Given the description of an element on the screen output the (x, y) to click on. 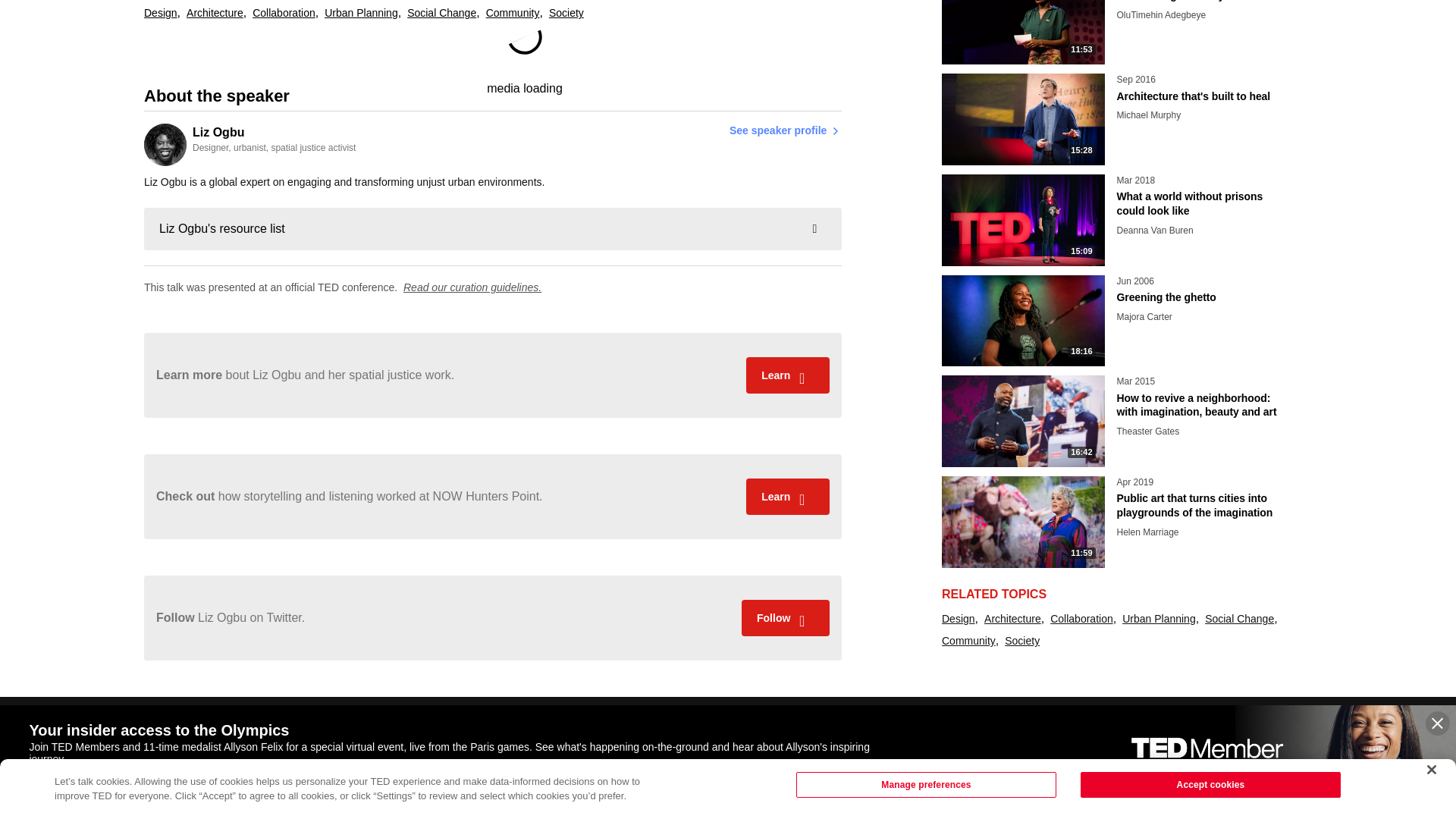
Community (513, 13)
Design (160, 13)
Architecture (214, 13)
Social Change (249, 144)
Urban Planning (441, 13)
Collaboration (360, 13)
Society (283, 13)
